Given the description of an element on the screen output the (x, y) to click on. 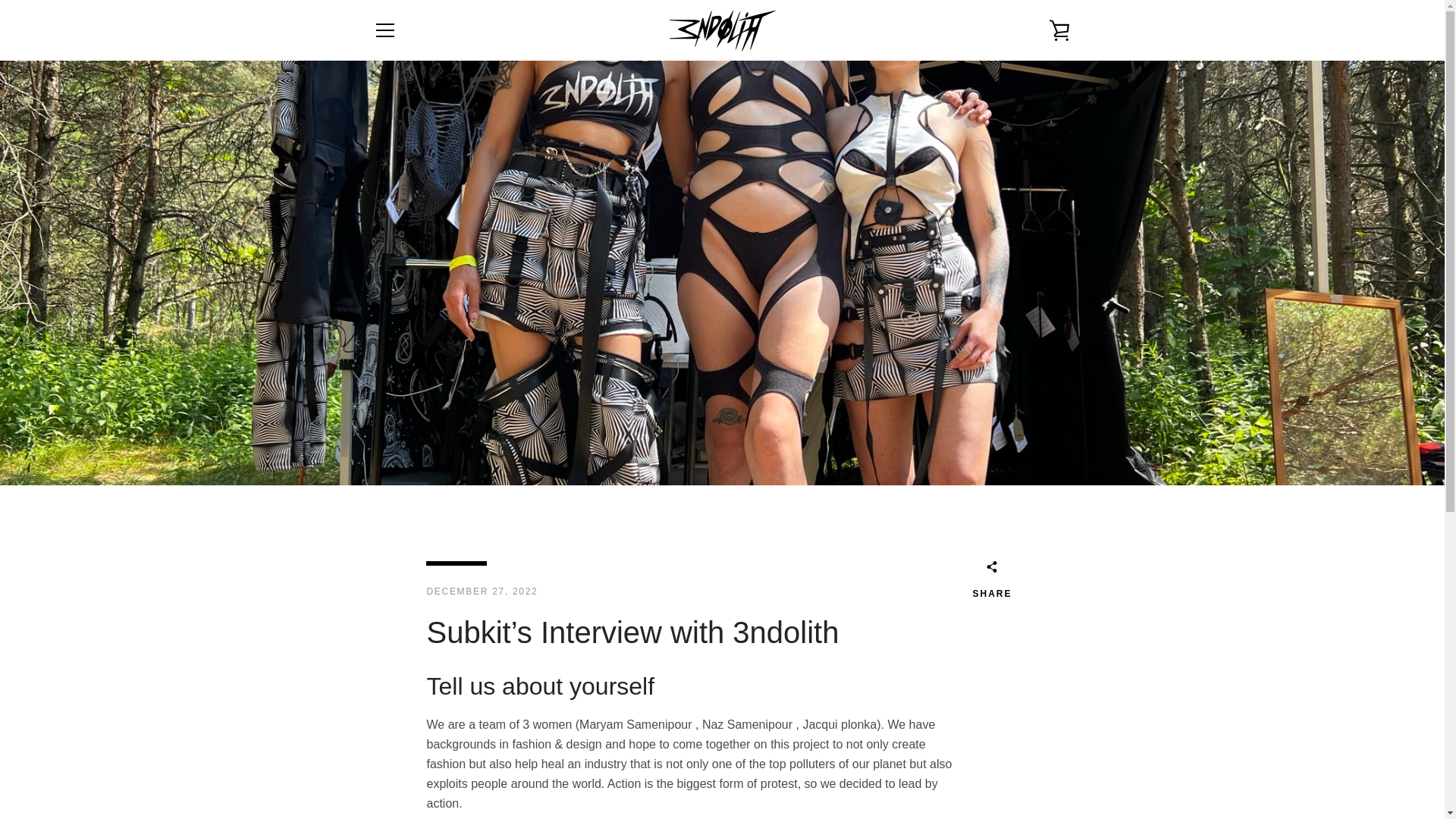
VIEW CART Element type: text (1059, 30)
SHARE Element type: text (991, 582)
MENU Element type: text (384, 30)
Skip to content Element type: text (0, 0)
